Given the description of an element on the screen output the (x, y) to click on. 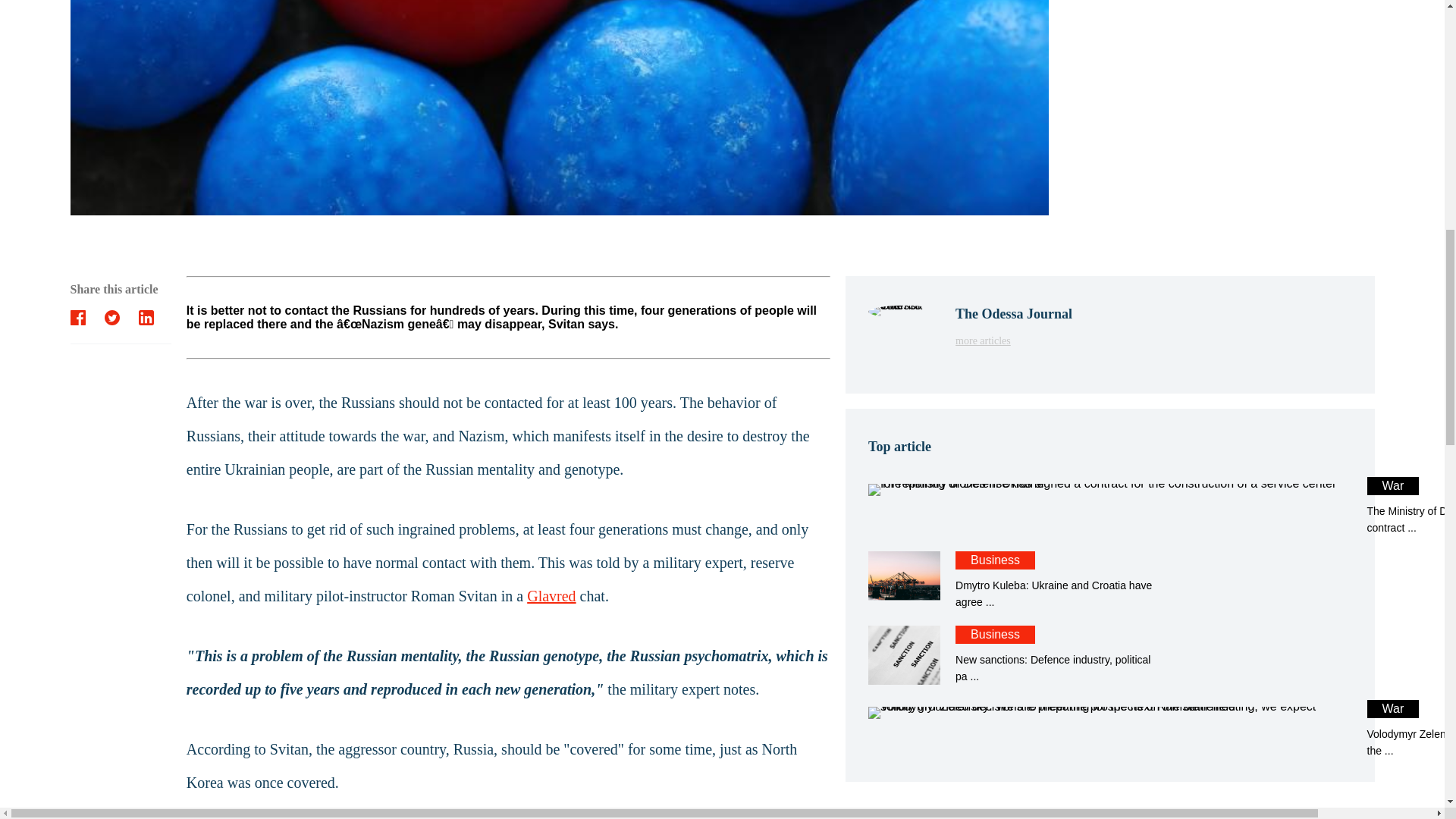
more articles (1109, 506)
Read (1013, 340)
more articles (1109, 580)
Read (1109, 654)
Read (1109, 506)
Read (1109, 729)
